Given the description of an element on the screen output the (x, y) to click on. 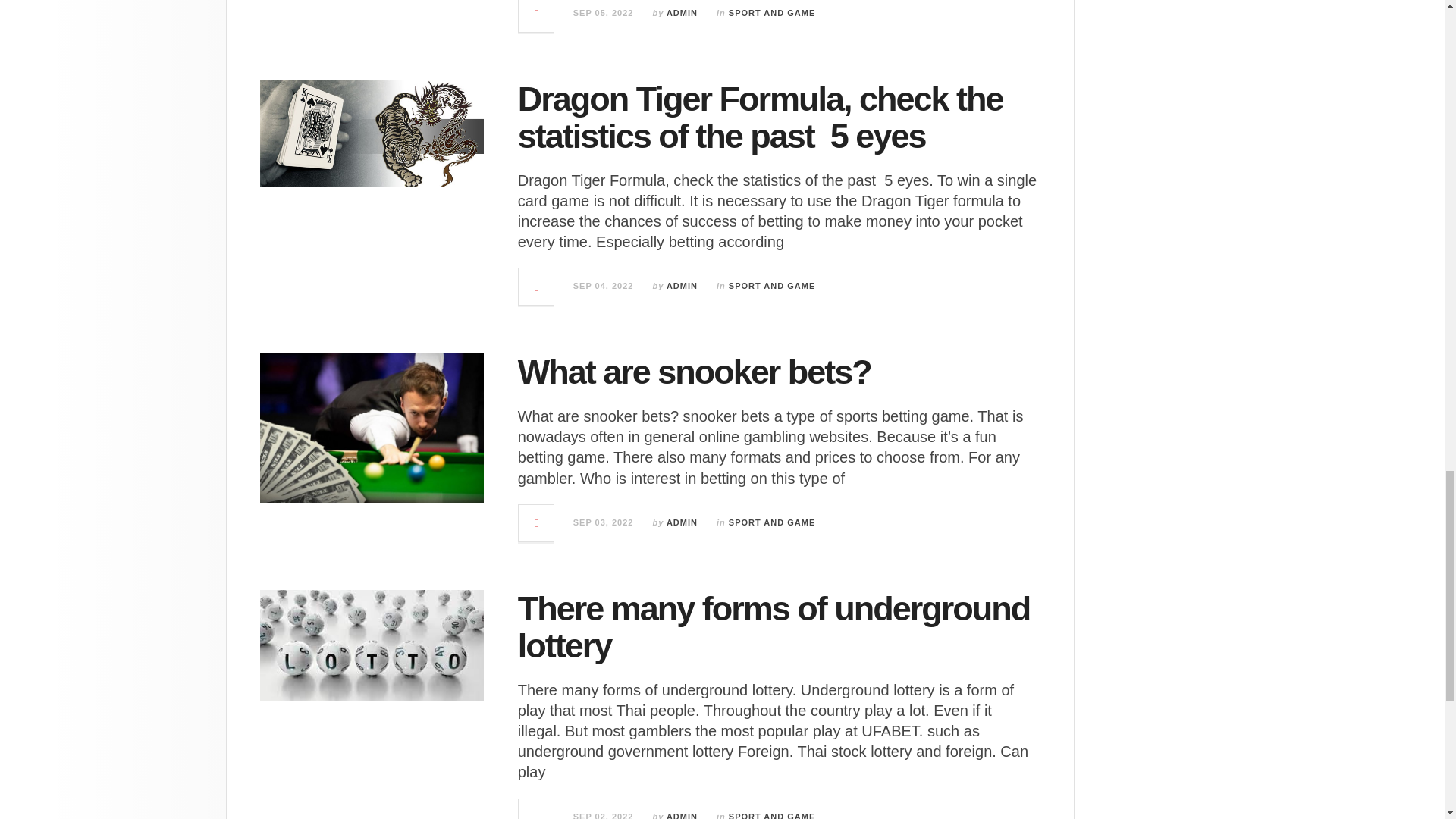
ADMIN (681, 12)
ADMIN (681, 285)
SPORT AND GAME (772, 12)
